Given the description of an element on the screen output the (x, y) to click on. 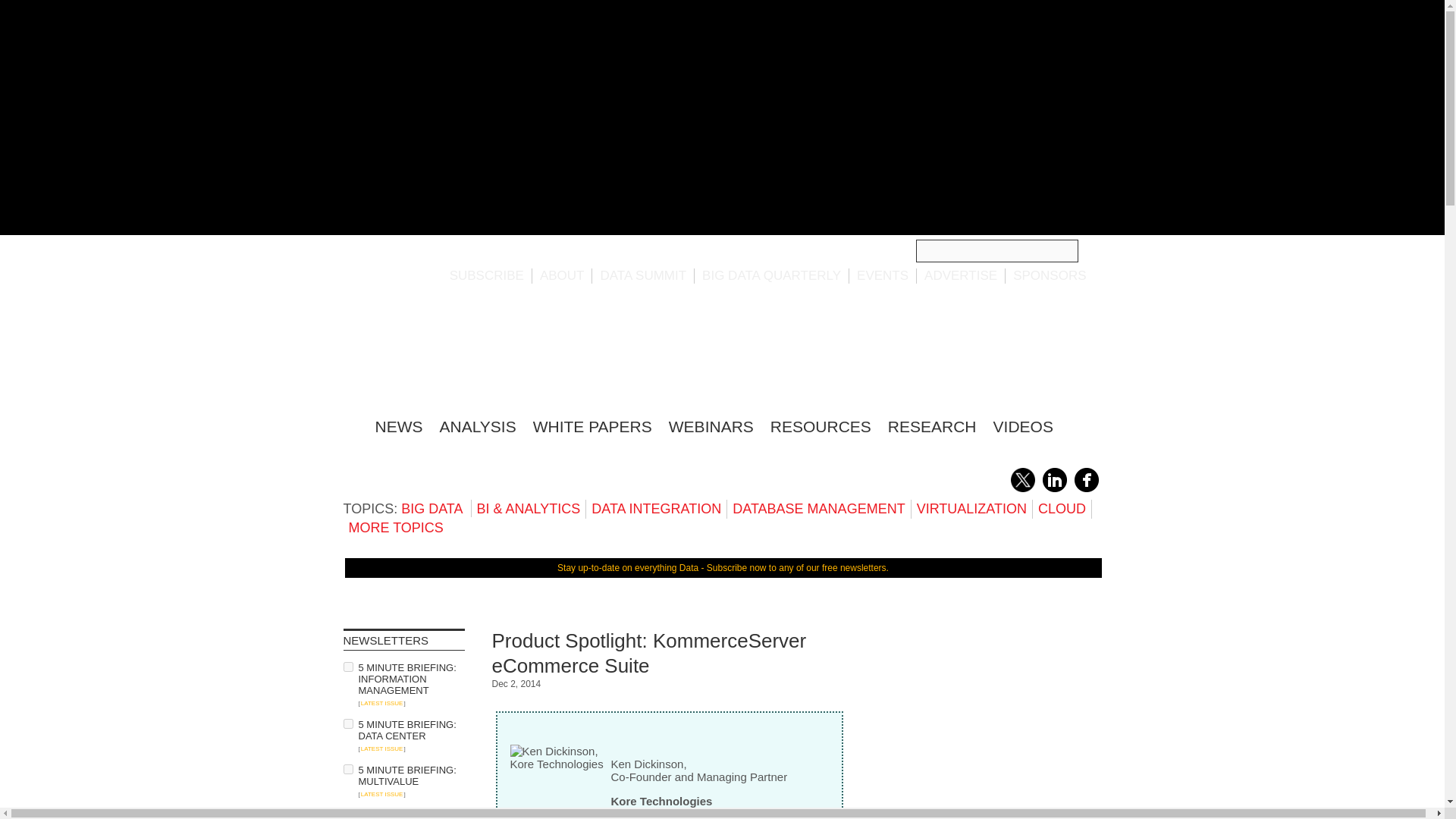
DBTA on Facebook (1085, 489)
ANALYSIS (477, 425)
ADVERTISE (960, 275)
RESOURCES (820, 425)
WEBINARS (711, 425)
VIDEOS (1022, 425)
HOME (350, 424)
NEWS (398, 425)
BIG DATA QUARTERLY (771, 275)
DBTA on Twitter (1021, 489)
